Given the description of an element on the screen output the (x, y) to click on. 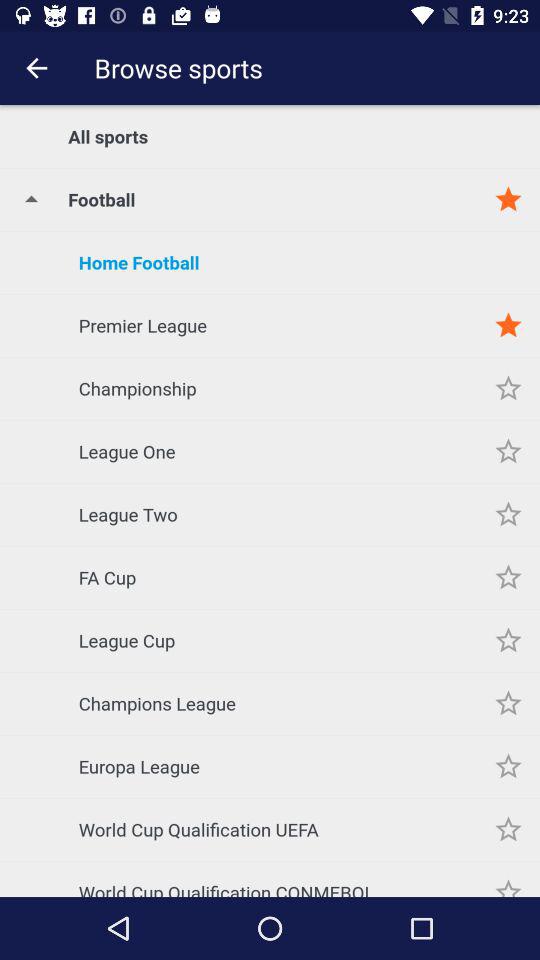
select feature (508, 388)
